Given the description of an element on the screen output the (x, y) to click on. 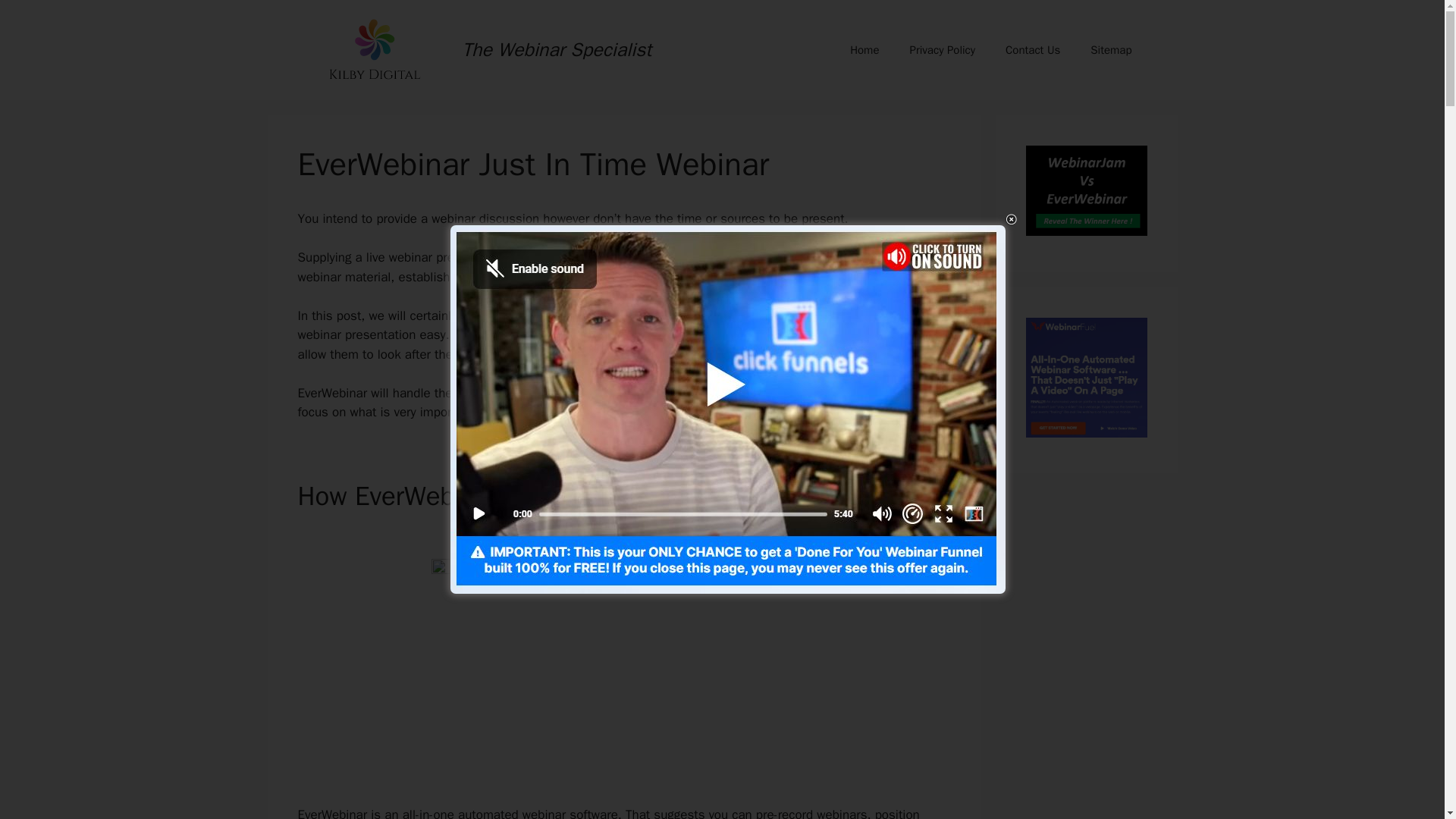
Close (1011, 219)
The Webinar Specialist (557, 49)
Home (863, 49)
Contact Us (1032, 49)
Sitemap (1111, 49)
Privacy Policy (941, 49)
